Given the description of an element on the screen output the (x, y) to click on. 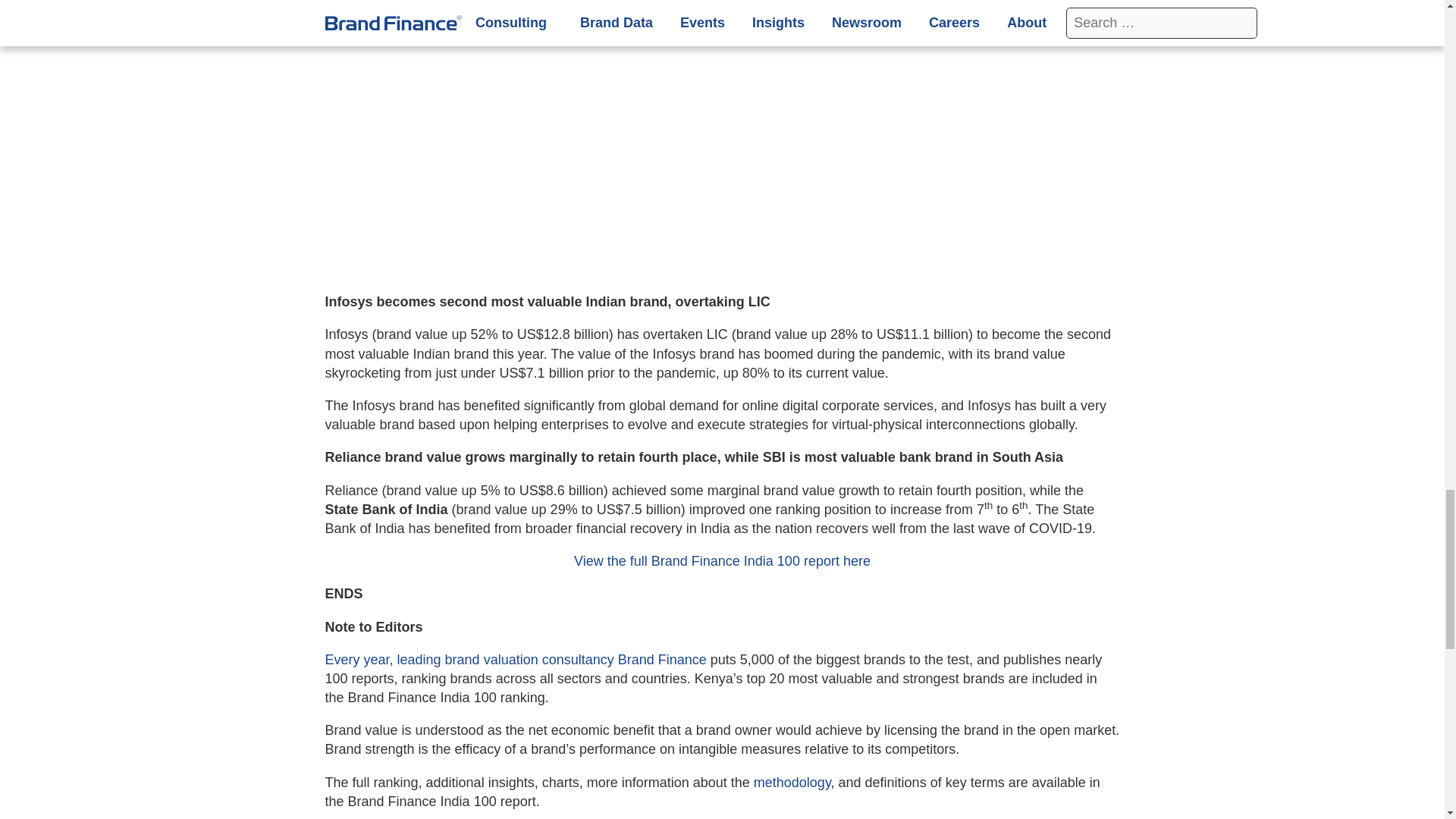
Brand Finance (661, 659)
methodology (792, 782)
Every year, leading brand valuation consultancy (470, 659)
View the full Brand Finance India 100 report here (721, 560)
